Given the description of an element on the screen output the (x, y) to click on. 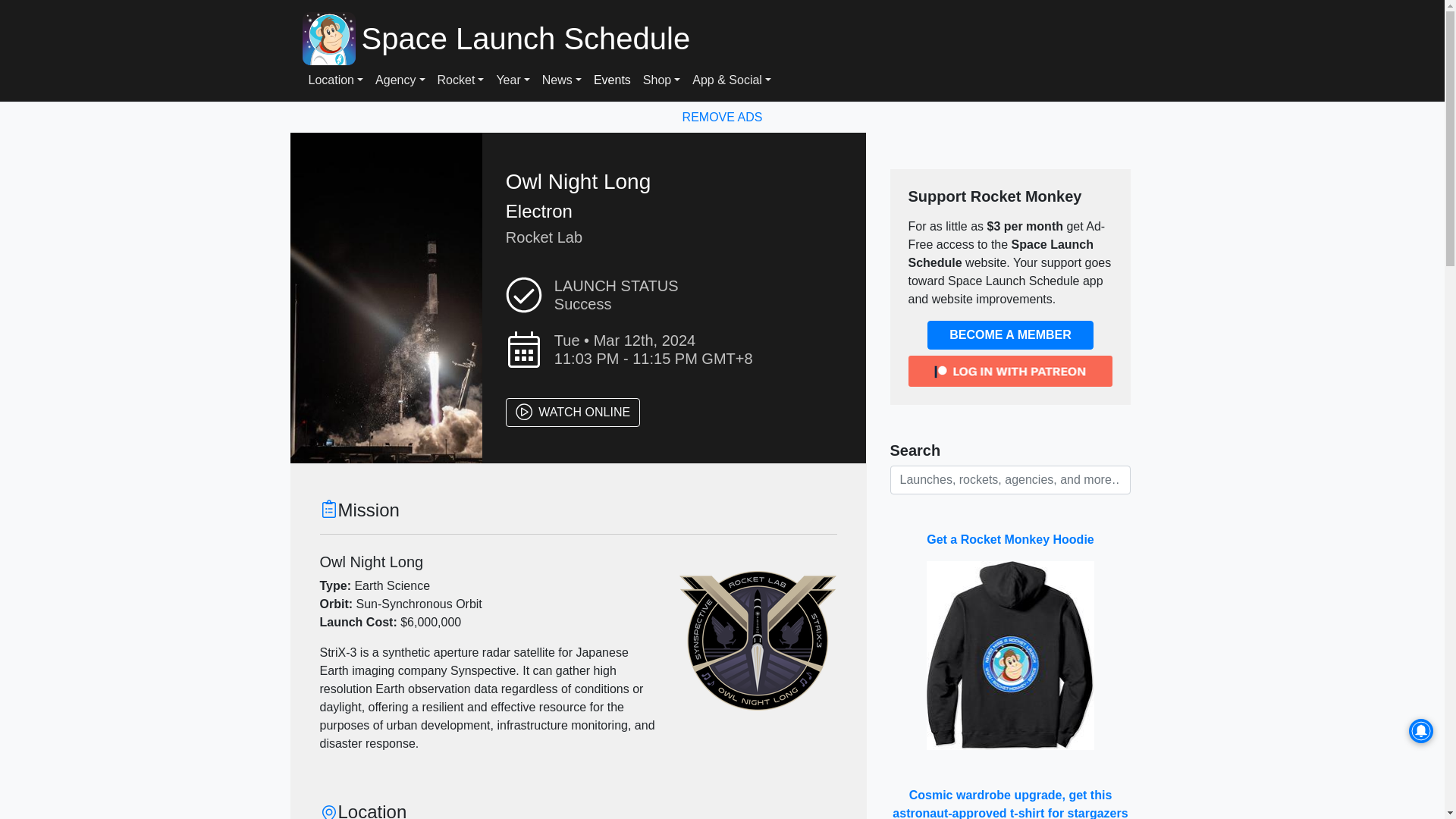
Space Launch Schedule (748, 38)
Rocket (460, 80)
Agency (399, 80)
Location (335, 80)
Year (512, 80)
